Given the description of an element on the screen output the (x, y) to click on. 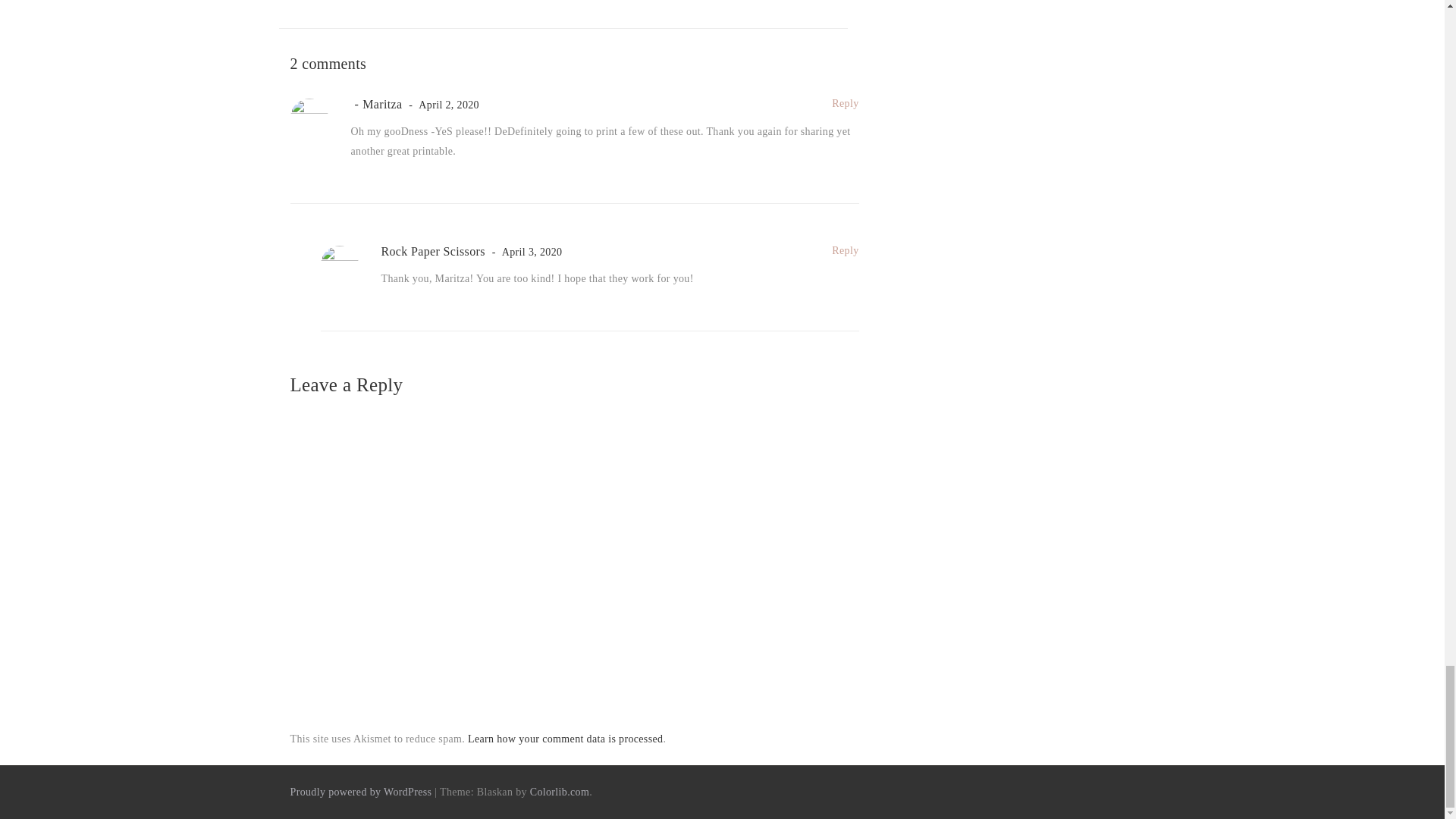
Maritza (375, 103)
Learn how your comment data is processed (564, 738)
April 2, 2020 (441, 104)
April 3, 2020 (524, 251)
Reply (845, 250)
Reply (845, 102)
